Given the description of an element on the screen output the (x, y) to click on. 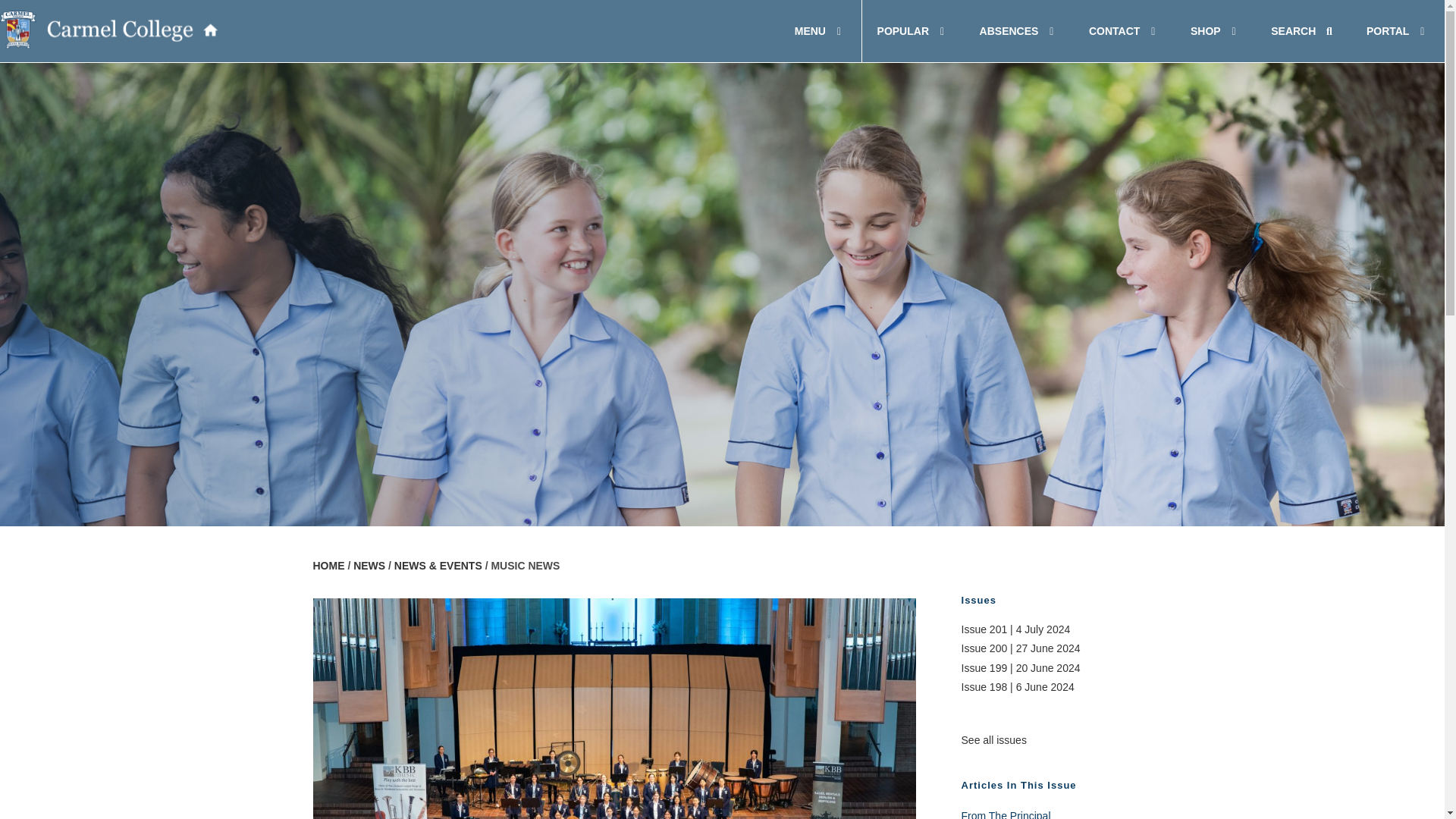
Carmel-Header-Logo-home-2 (722, 31)
MENU (109, 29)
